Given the description of an element on the screen output the (x, y) to click on. 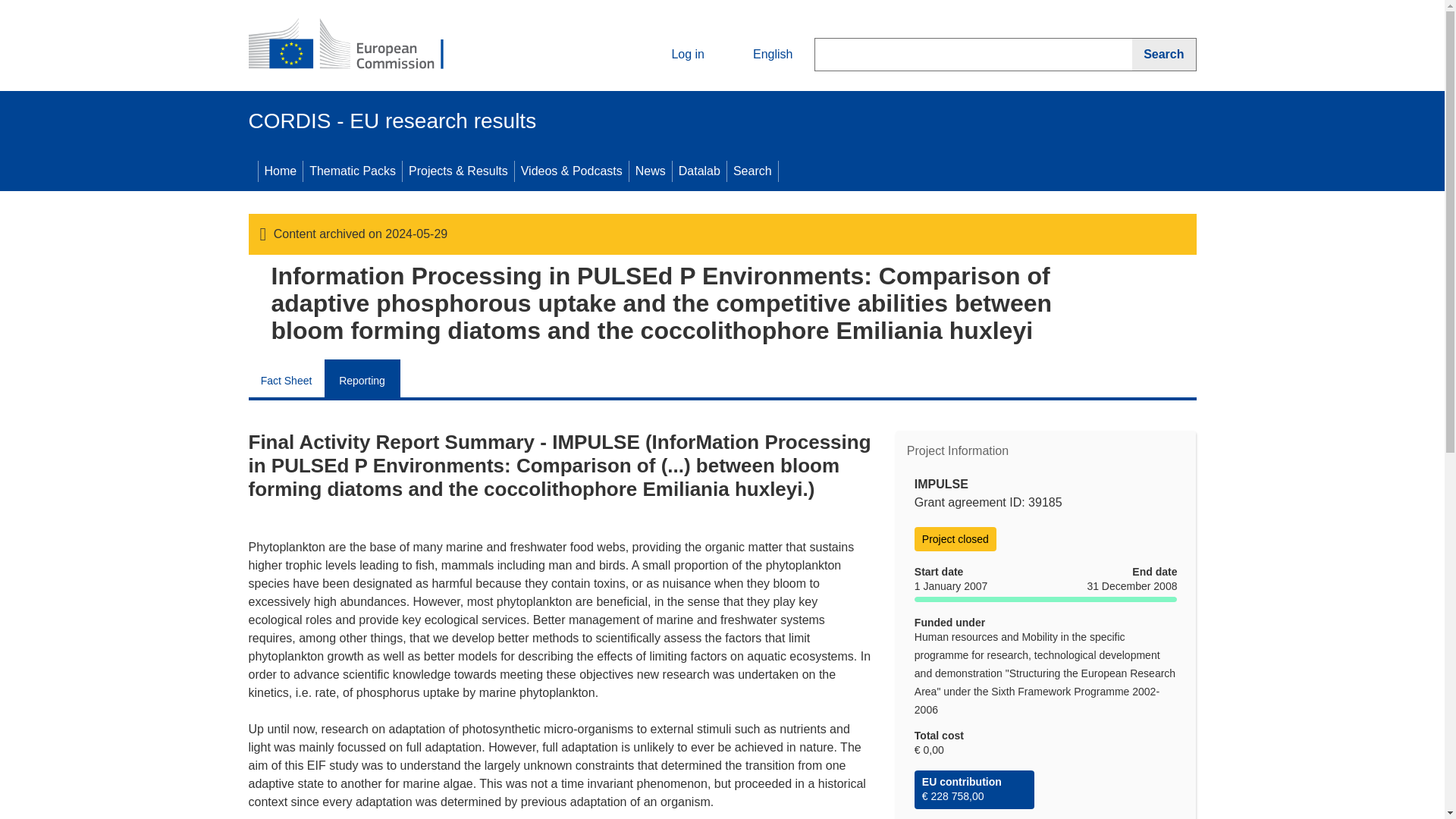
Reporting (362, 378)
Search (751, 170)
Datalab (699, 170)
News (649, 170)
Thematic Packs (351, 170)
Log in (675, 54)
Search (1163, 54)
European Commission (358, 45)
Skip to main content (5, 6)
Home (279, 170)
